Given the description of an element on the screen output the (x, y) to click on. 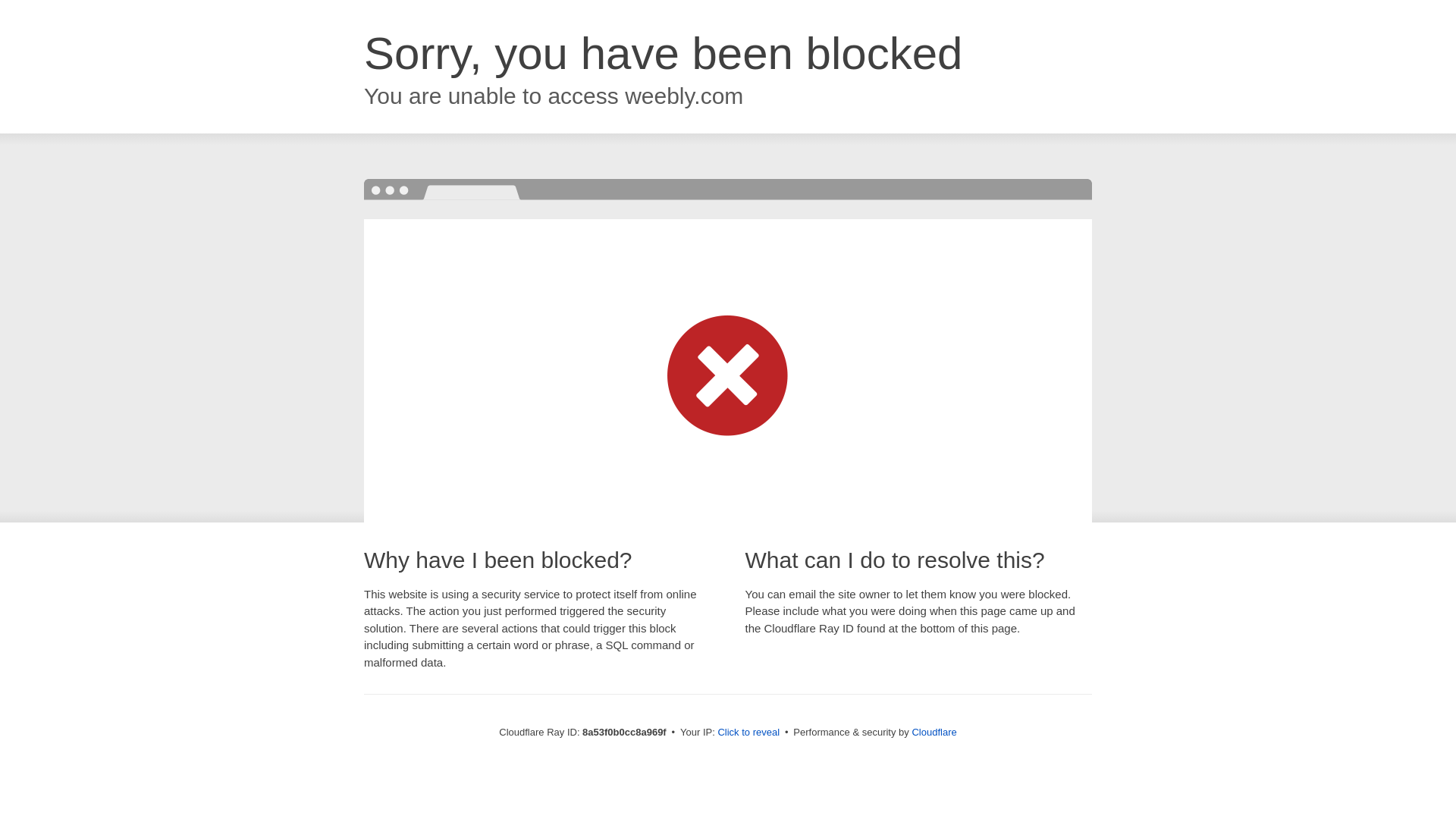
Cloudflare (933, 731)
Click to reveal (747, 732)
